Given the description of an element on the screen output the (x, y) to click on. 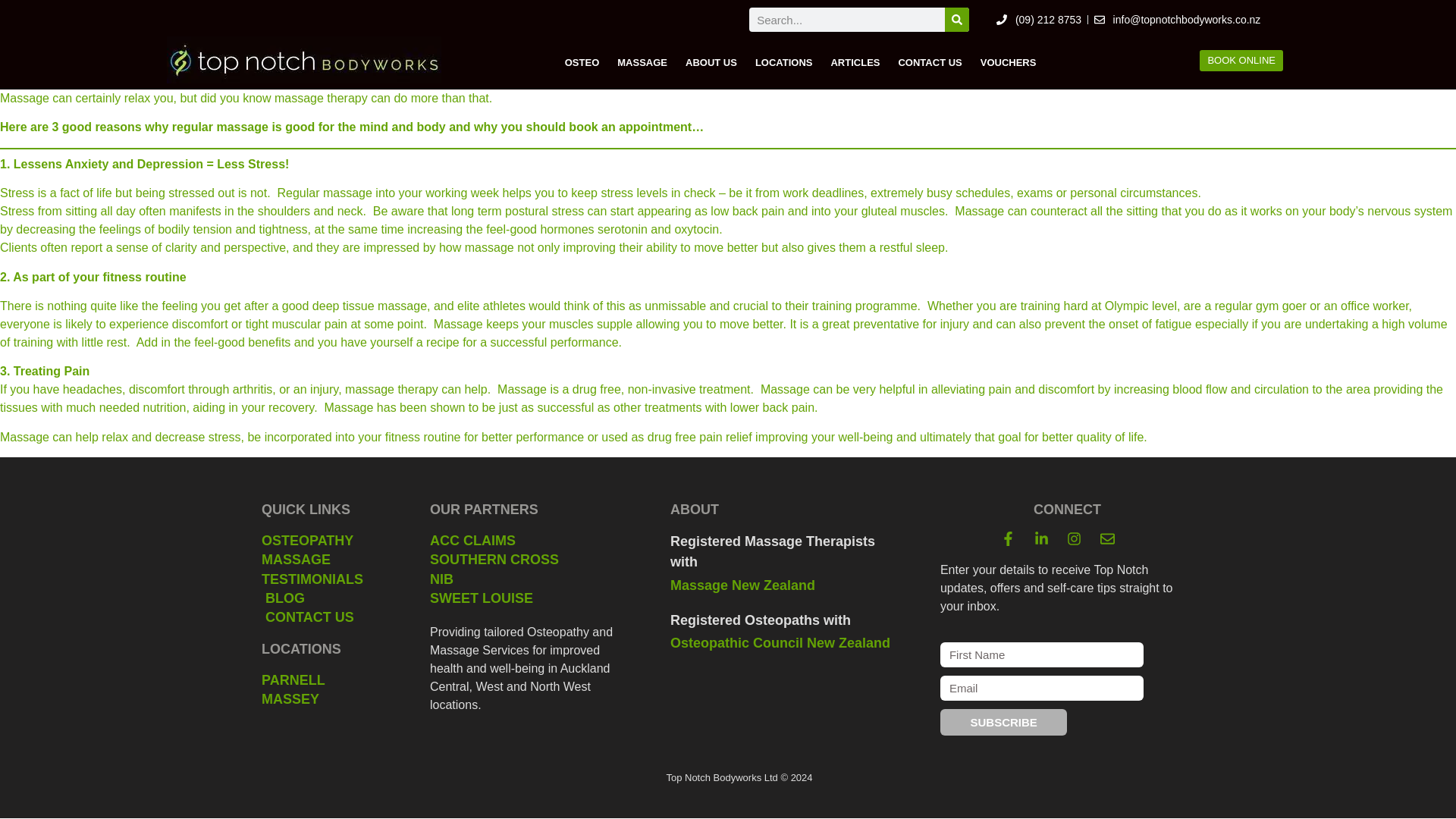
BLOG (326, 598)
LOCATIONS (783, 61)
MASSAGE (642, 61)
PARNELL (326, 680)
MASSAGE (326, 559)
OSTEOPATHY (326, 540)
BOOK ONLINE (1240, 60)
CONTACT US (326, 617)
TESTIMONIALS (326, 579)
OSTEO (582, 61)
